Given the description of an element on the screen output the (x, y) to click on. 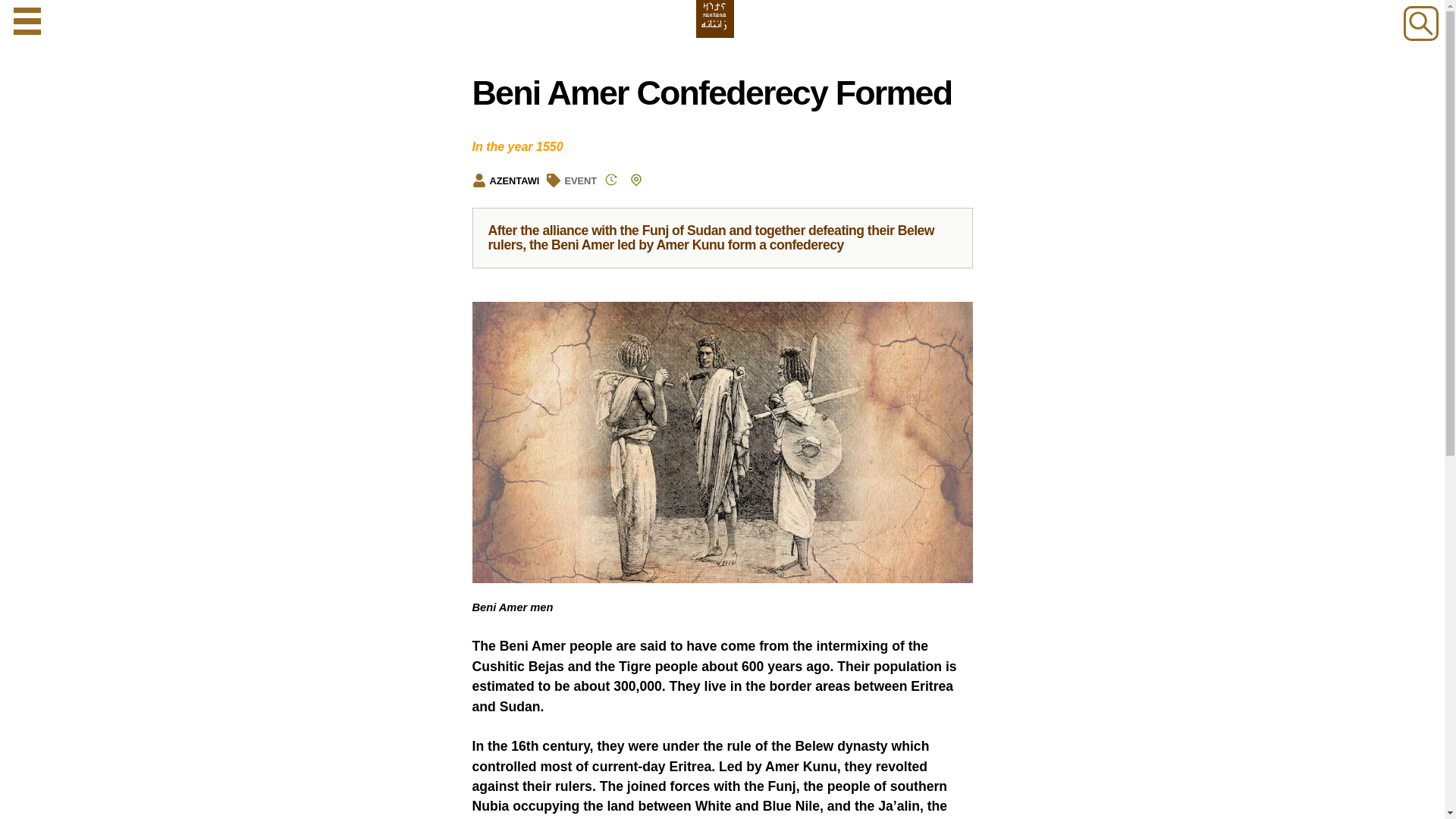
Open Menu (26, 21)
EVENT (580, 180)
